Given the description of an element on the screen output the (x, y) to click on. 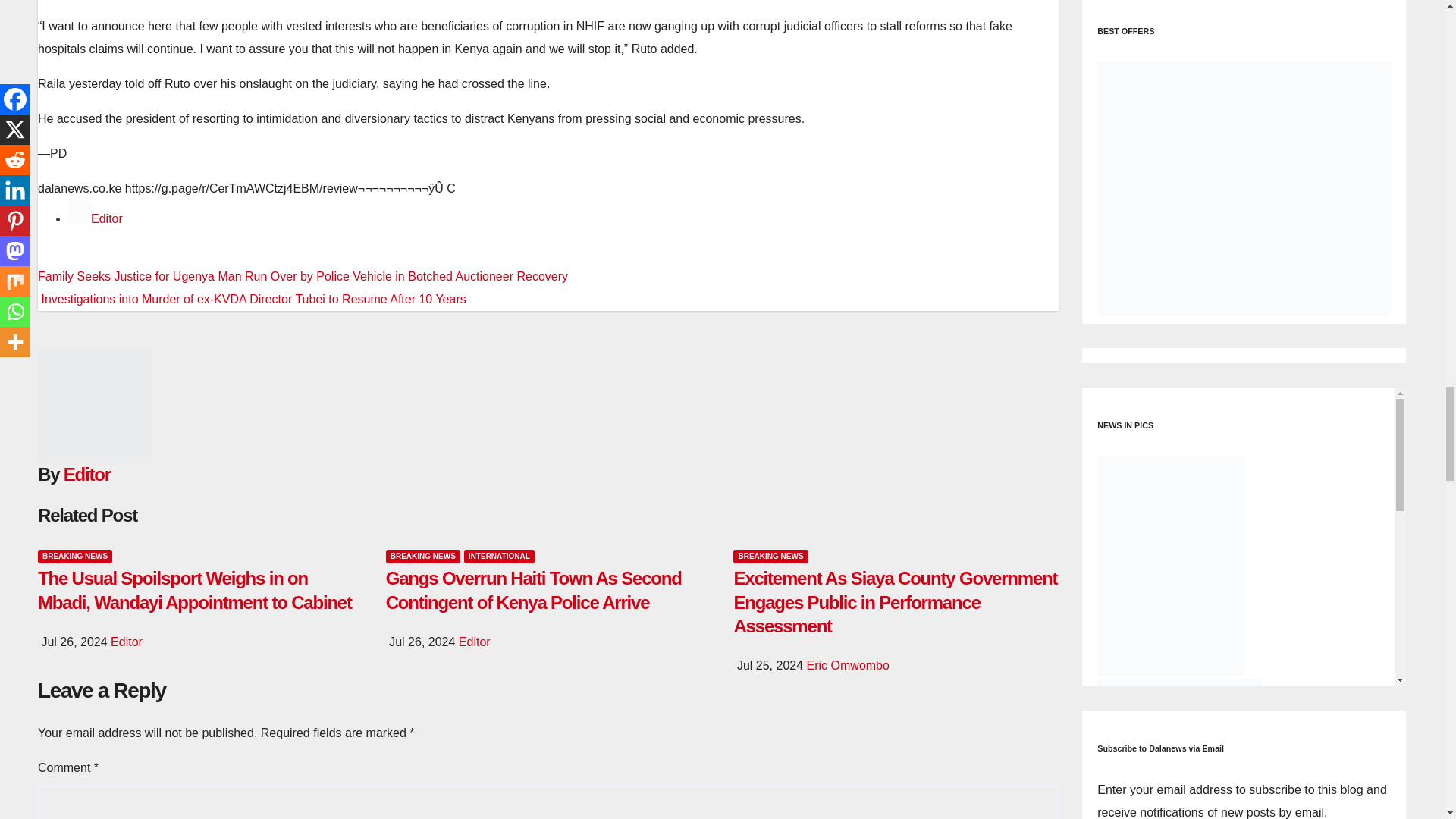
Editor (106, 218)
Editor (106, 218)
